Given the description of an element on the screen output the (x, y) to click on. 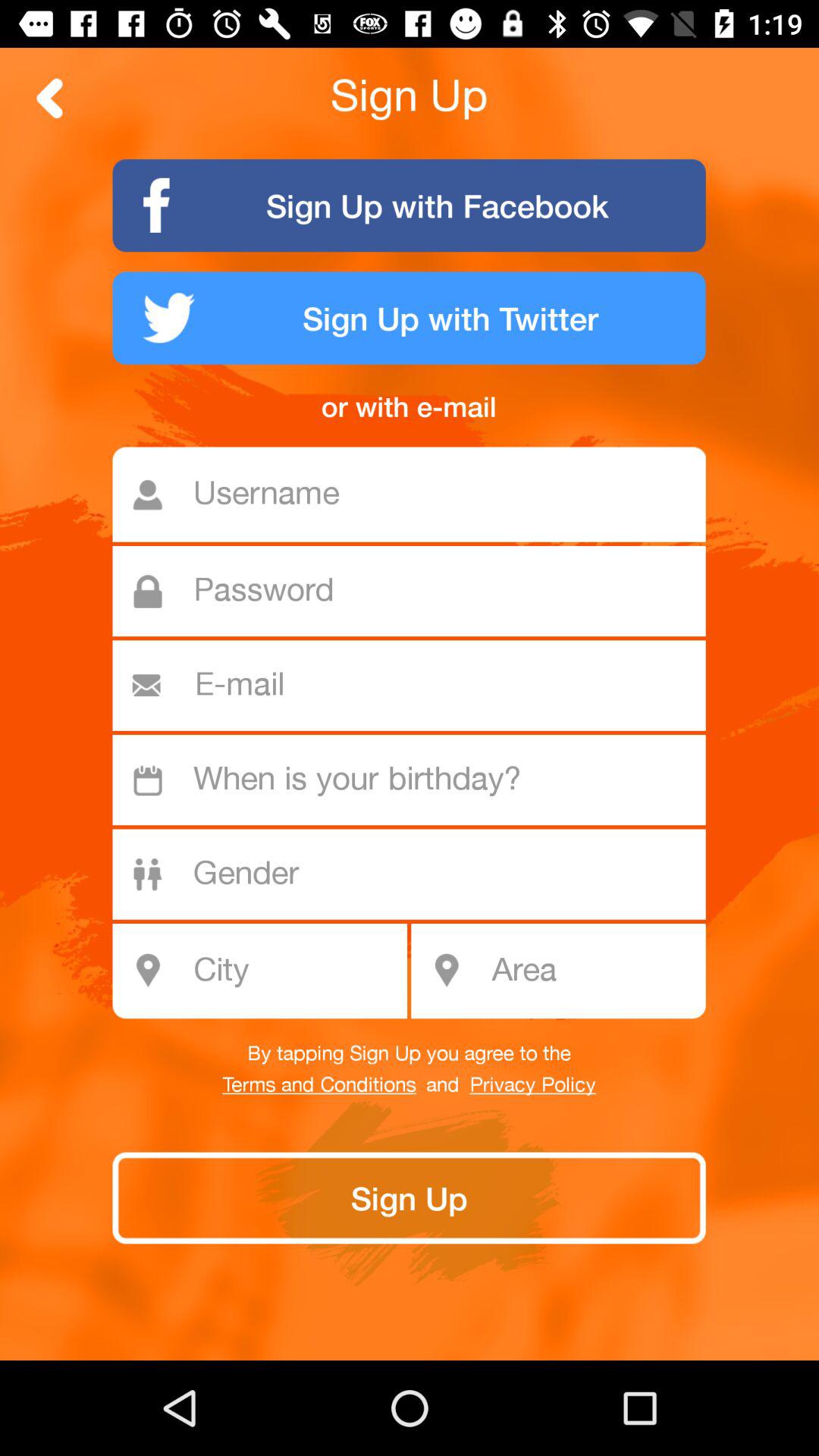
launch icon next to the and item (319, 1085)
